Given the description of an element on the screen output the (x, y) to click on. 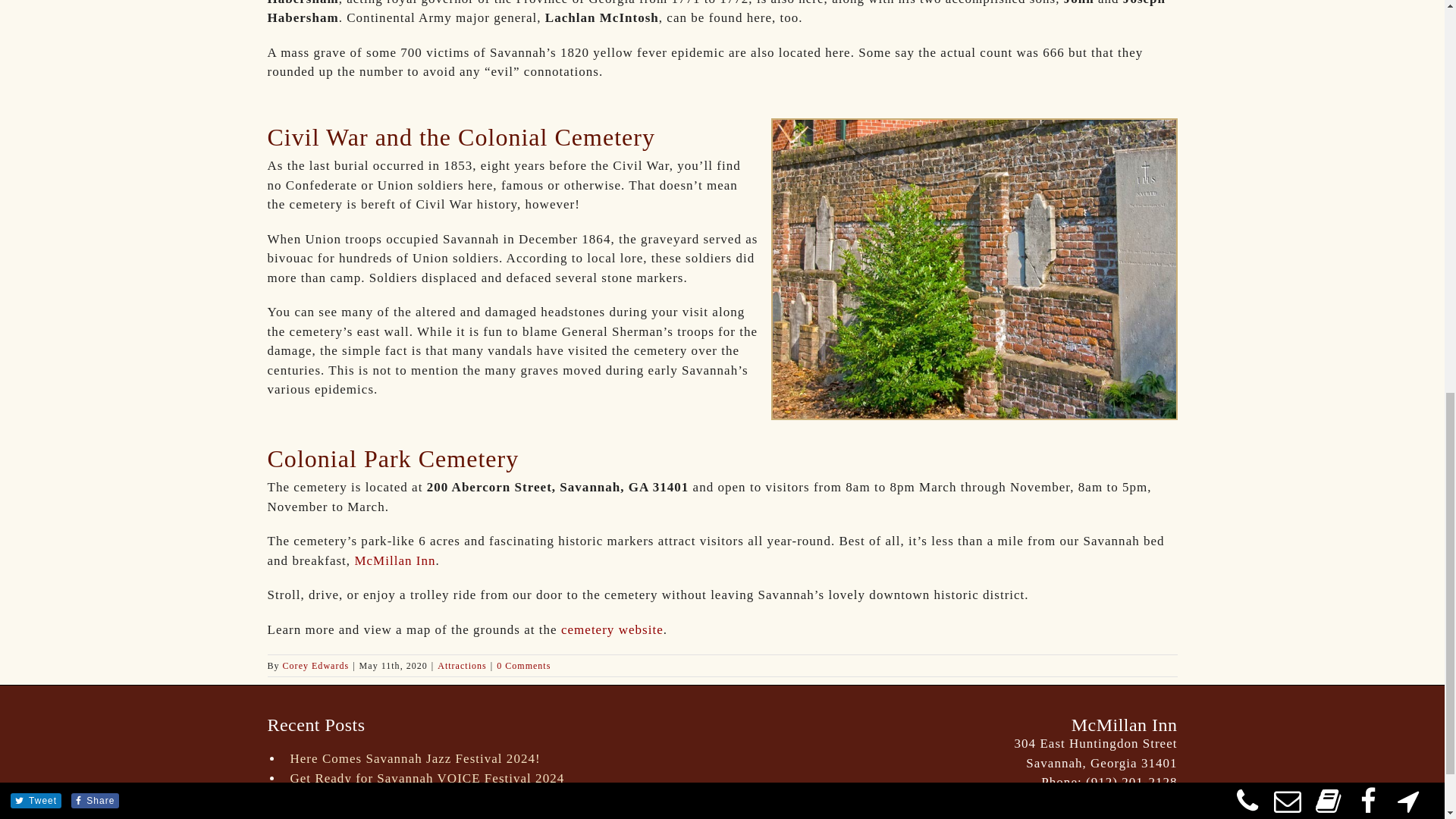
Posts by Corey Edwards (315, 665)
